Given the description of an element on the screen output the (x, y) to click on. 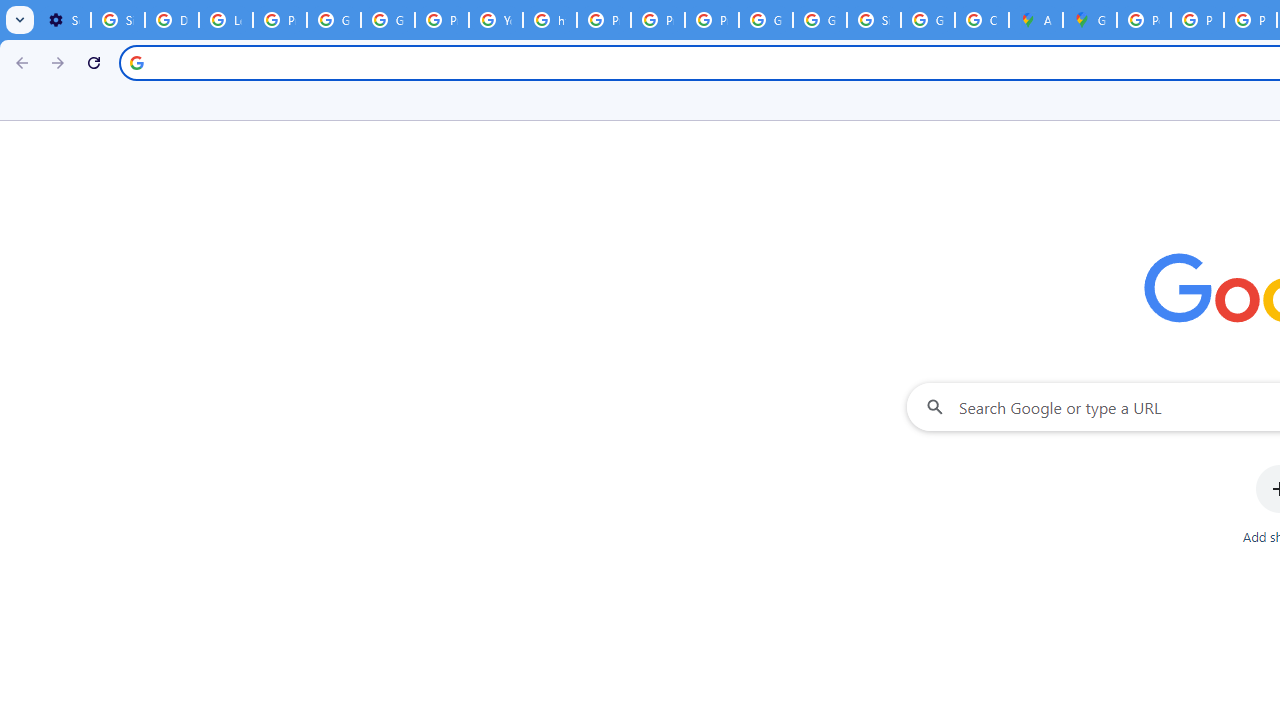
Sign in - Google Accounts (874, 20)
Delete photos & videos - Computer - Google Photos Help (171, 20)
Settings - On startup (63, 20)
Privacy Help Center - Policies Help (1197, 20)
Privacy Help Center - Policies Help (604, 20)
Google Maps (1089, 20)
